Given the description of an element on the screen output the (x, y) to click on. 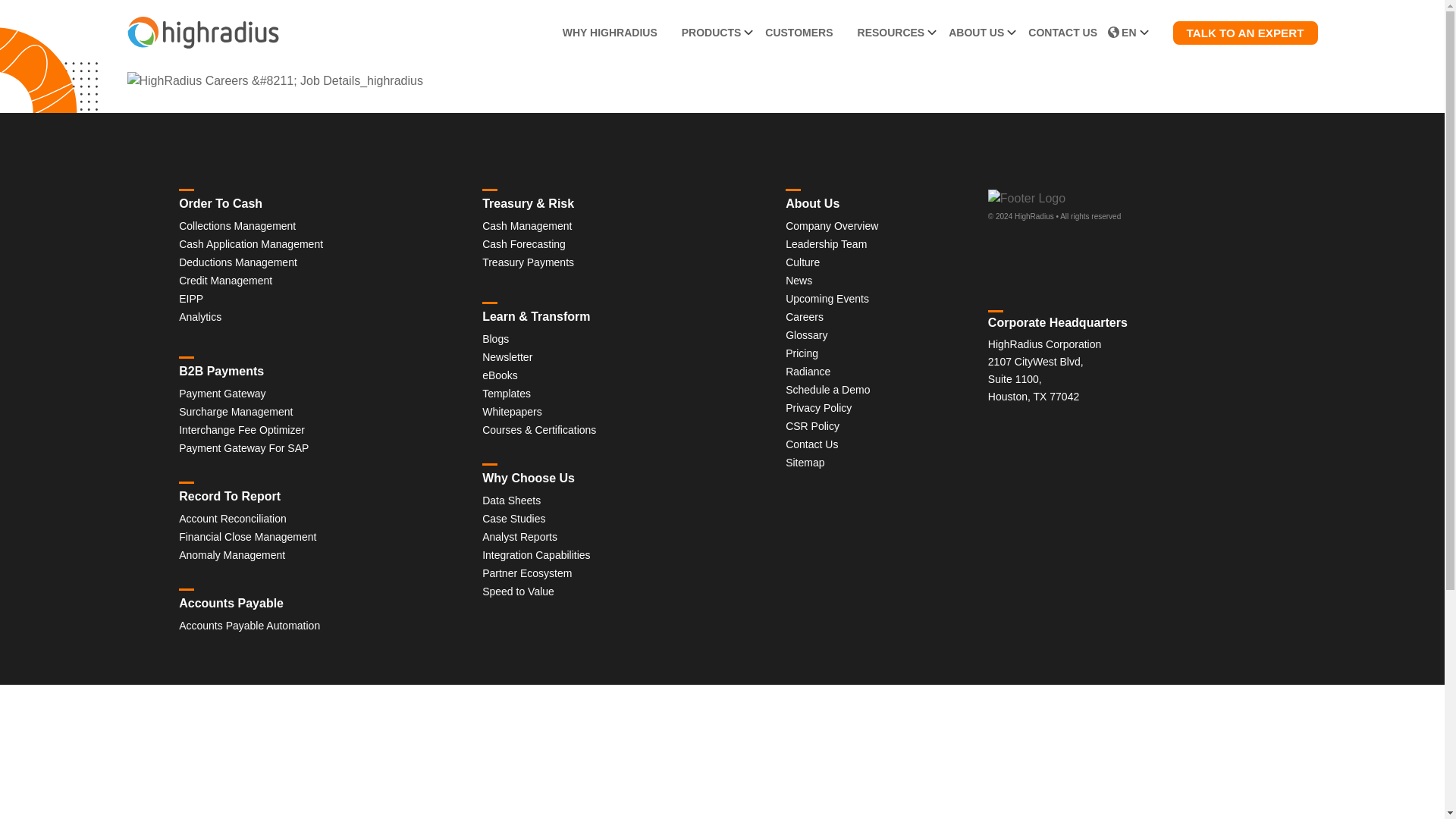
PRODUCTS (711, 32)
CUSTOMERS (798, 32)
WHY HIGHRADIUS (609, 32)
RESOURCES (891, 32)
